Given the description of an element on the screen output the (x, y) to click on. 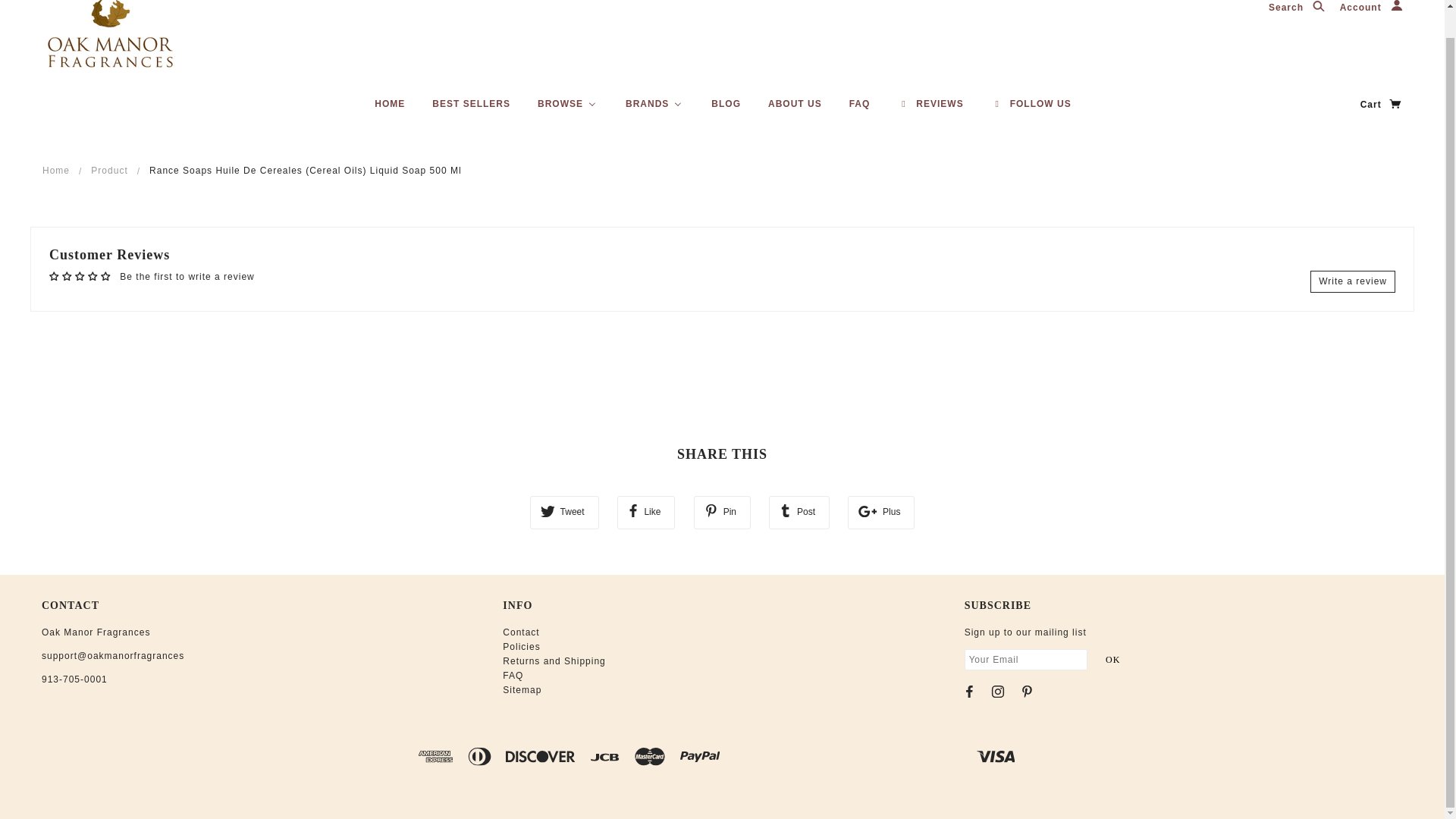
Oak Manor Fragrances (110, 35)
OK (1112, 659)
